Given the description of an element on the screen output the (x, y) to click on. 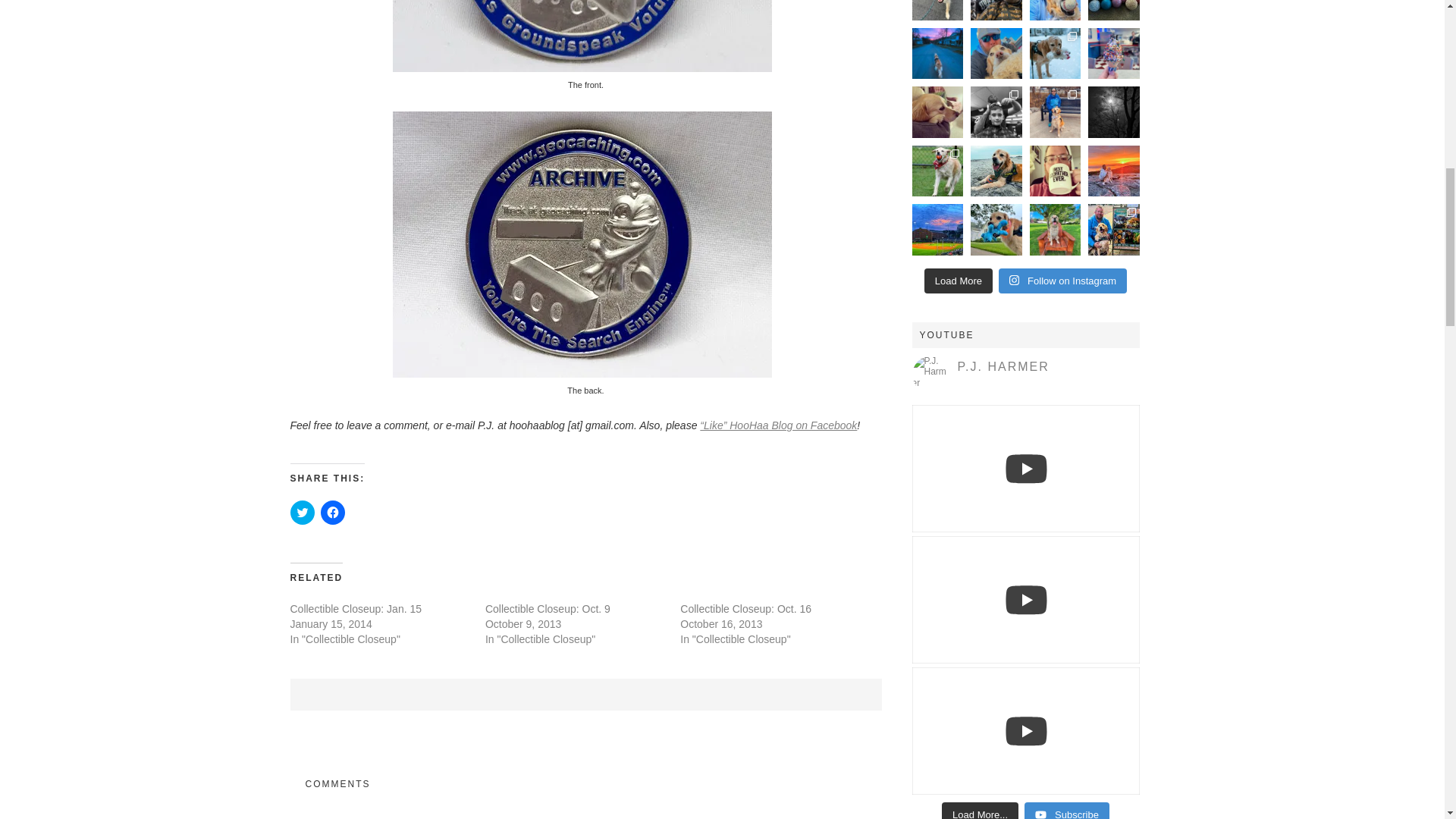
Collectible Closeup: Jan. 15 (355, 608)
Collectible Closeup: Oct. 16 (744, 608)
Collectible Closeup: Jan. 15 (355, 608)
Collectible Closeup: Oct. 9 (547, 608)
Click to share on Facebook (331, 512)
Collectible Closeup: Oct. 9 (547, 608)
Collectible Closeup: Oct. 16 (744, 608)
Click to share on Twitter (301, 512)
